Given the description of an element on the screen output the (x, y) to click on. 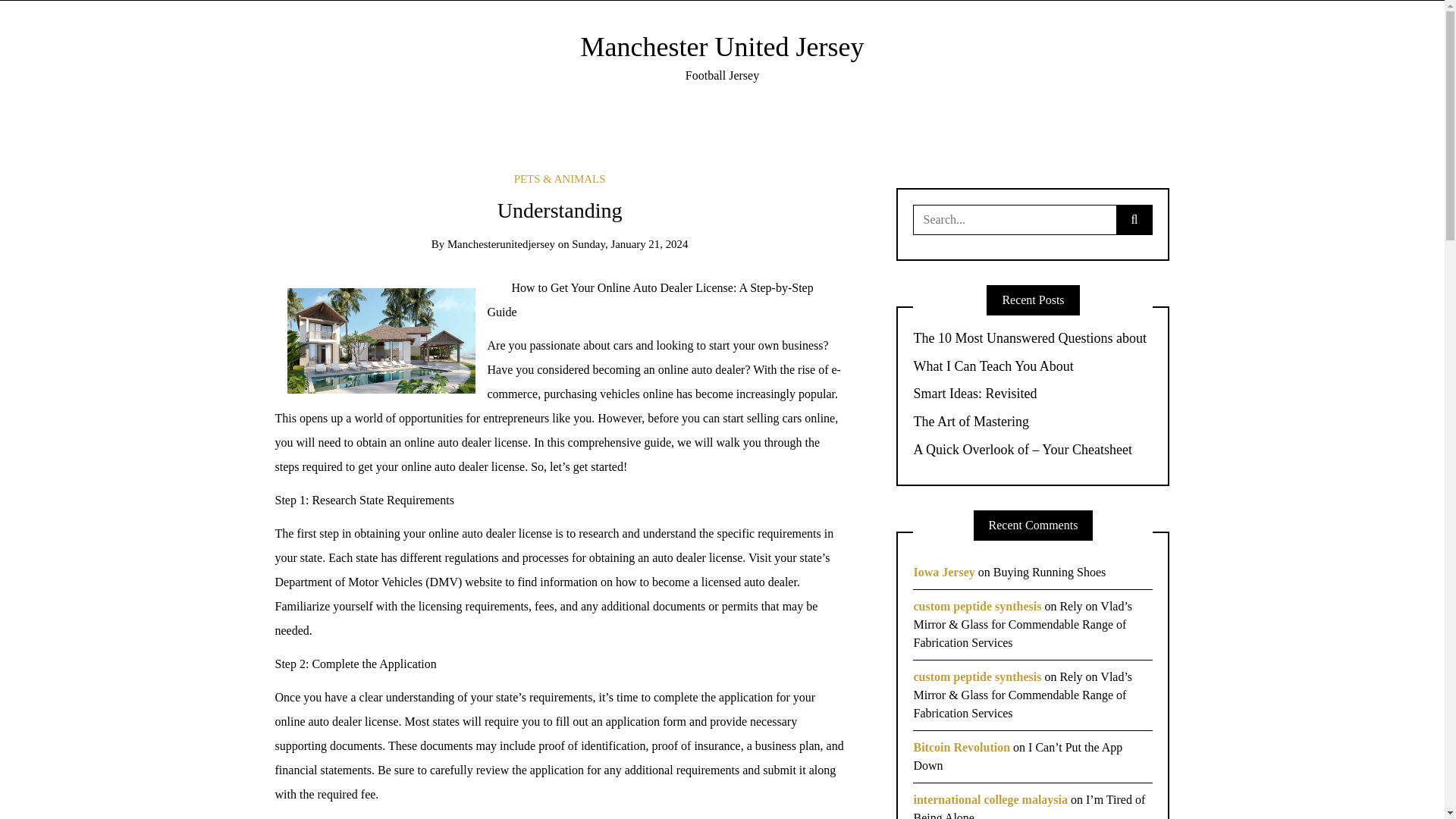
Bitcoin Revolution (961, 747)
What I Can Teach You About (1032, 366)
Search (35, 16)
international college malaysia (989, 799)
Sunday, January 21, 2024 (629, 244)
The Art of Mastering (1032, 422)
Manchester United Jersey (722, 46)
Buying Running Shoes (1048, 571)
The 10 Most Unanswered Questions about (1032, 338)
custom peptide synthesis (976, 605)
Manchesterunitedjersey (500, 244)
Posts by manchesterunitedjersey (500, 244)
Iowa Jersey (943, 571)
Smart Ideas: Revisited (1032, 393)
custom peptide synthesis (976, 676)
